Given the description of an element on the screen output the (x, y) to click on. 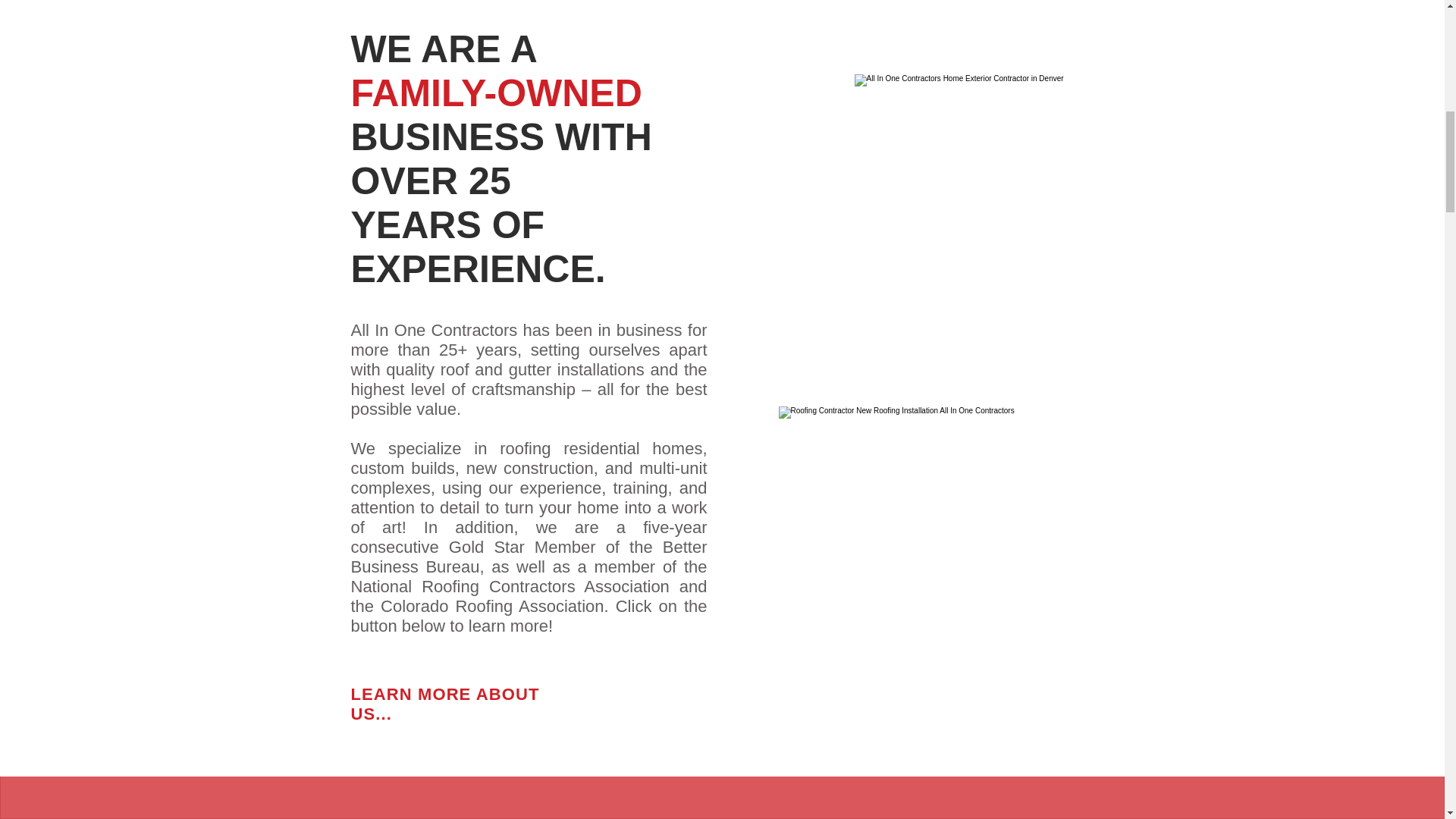
LEARN MORE ABOUT US...  (444, 703)
